Given the description of an element on the screen output the (x, y) to click on. 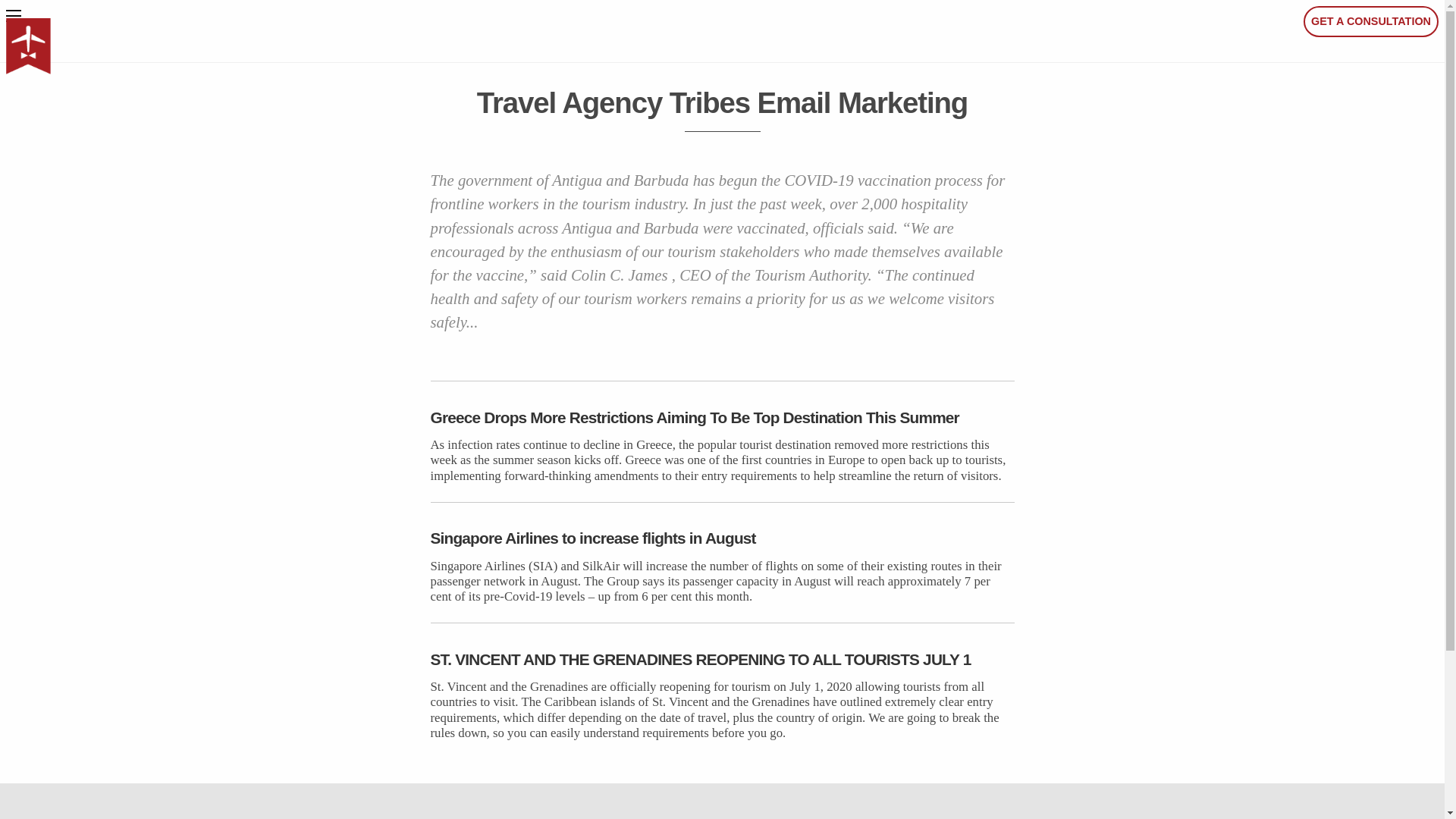
GET A CONSULTATION (1370, 20)
Singapore Airlines to increase flights in August (722, 537)
SUPPORT (1143, 817)
